Given the description of an element on the screen output the (x, y) to click on. 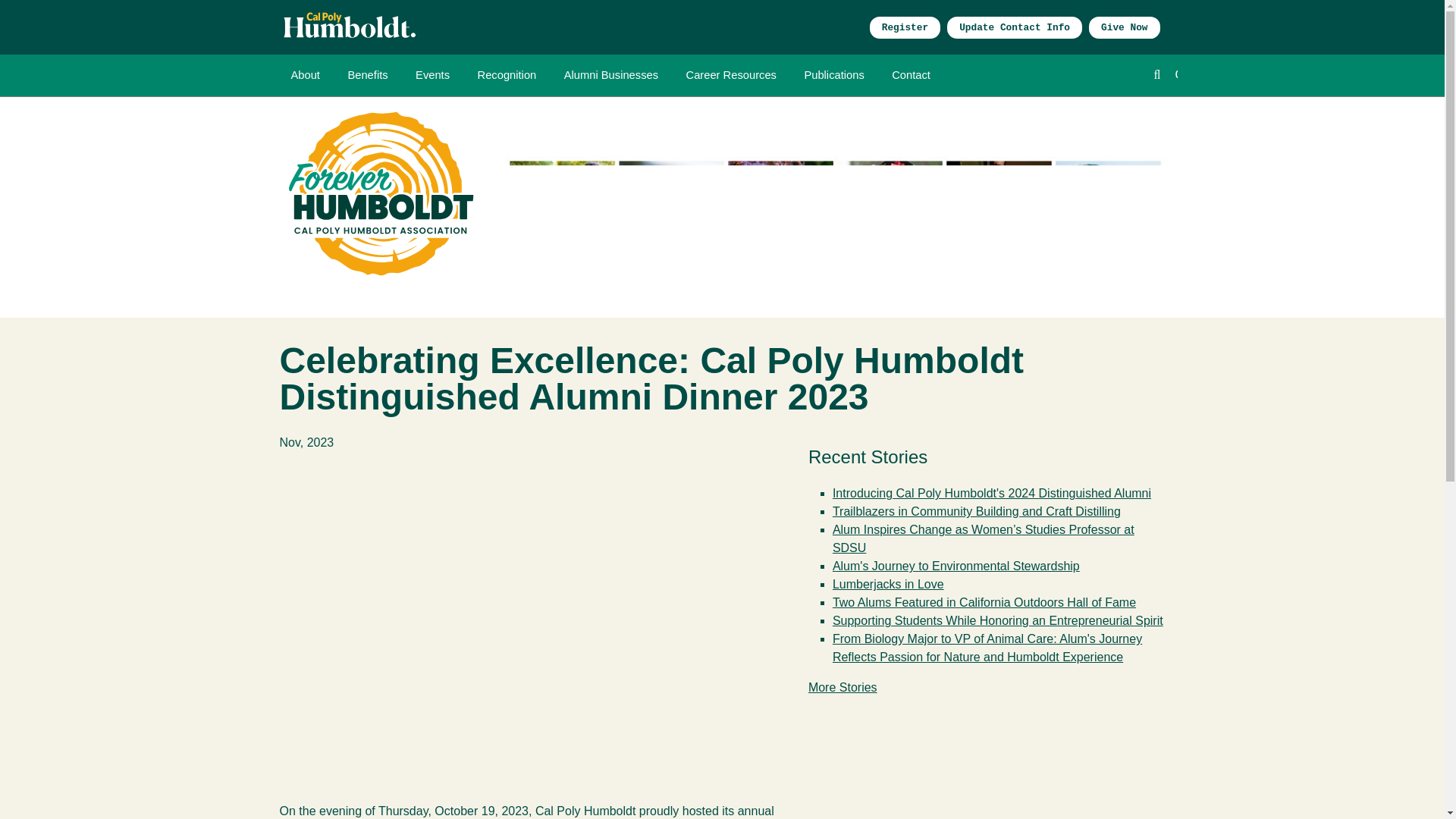
Search (1157, 71)
Introducing Cal Poly Humboldt's 2024 Distinguished Alumni (991, 492)
Register (904, 27)
Forever Humboldt Cal Poly Humboldt Association (381, 193)
About (305, 74)
Benefits (366, 74)
Trailblazers in Community Building and Craft Distilling (976, 511)
Lumberjacks in Love (887, 584)
